Given the description of an element on the screen output the (x, y) to click on. 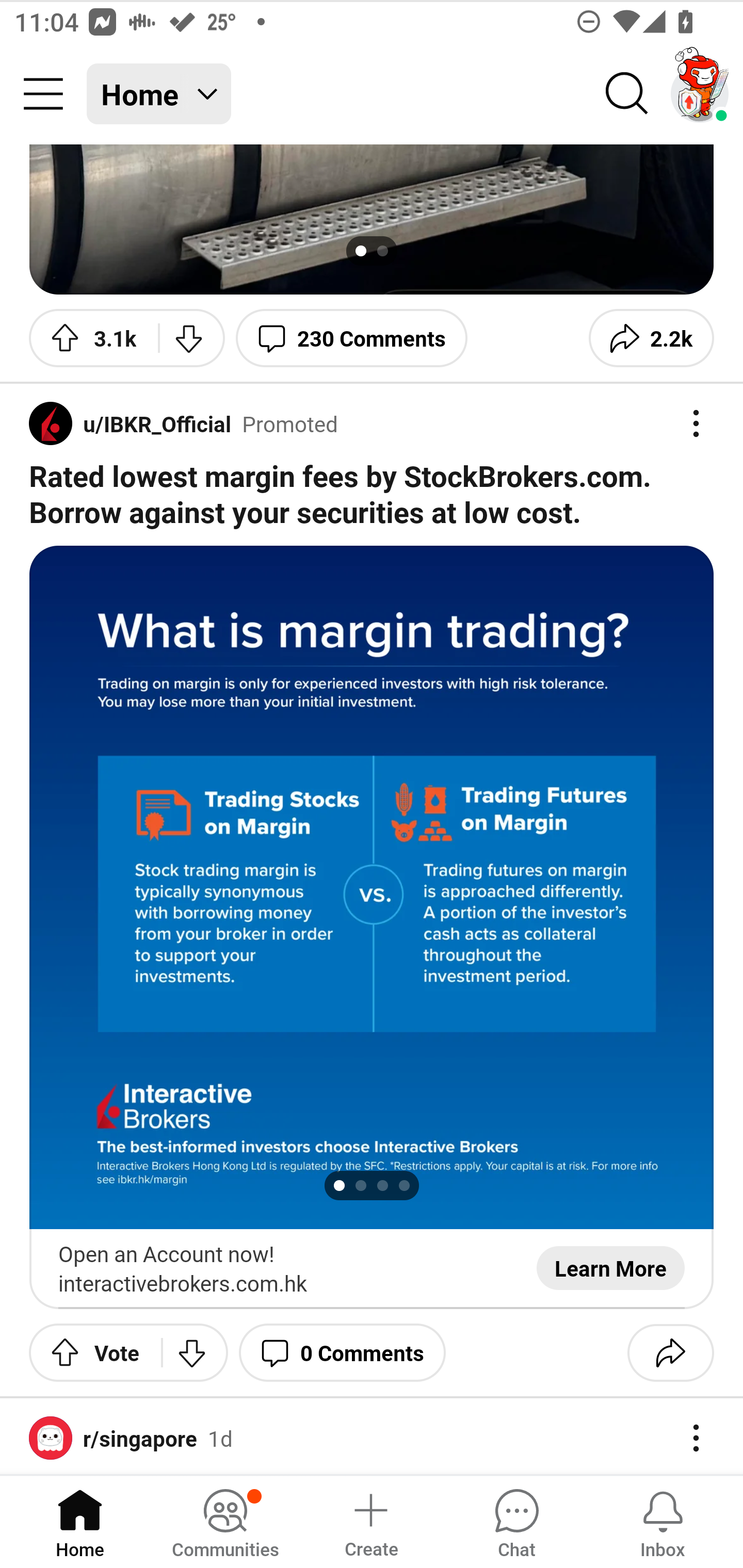
Community menu (43, 93)
Home Home feed (158, 93)
Search (626, 93)
TestAppium002 account (699, 93)
Image 1 of 4 (371, 887)
Home (80, 1520)
Communities, has notifications Communities (225, 1520)
Create a post Create (370, 1520)
Chat (516, 1520)
Inbox (662, 1520)
